Given the description of an element on the screen output the (x, y) to click on. 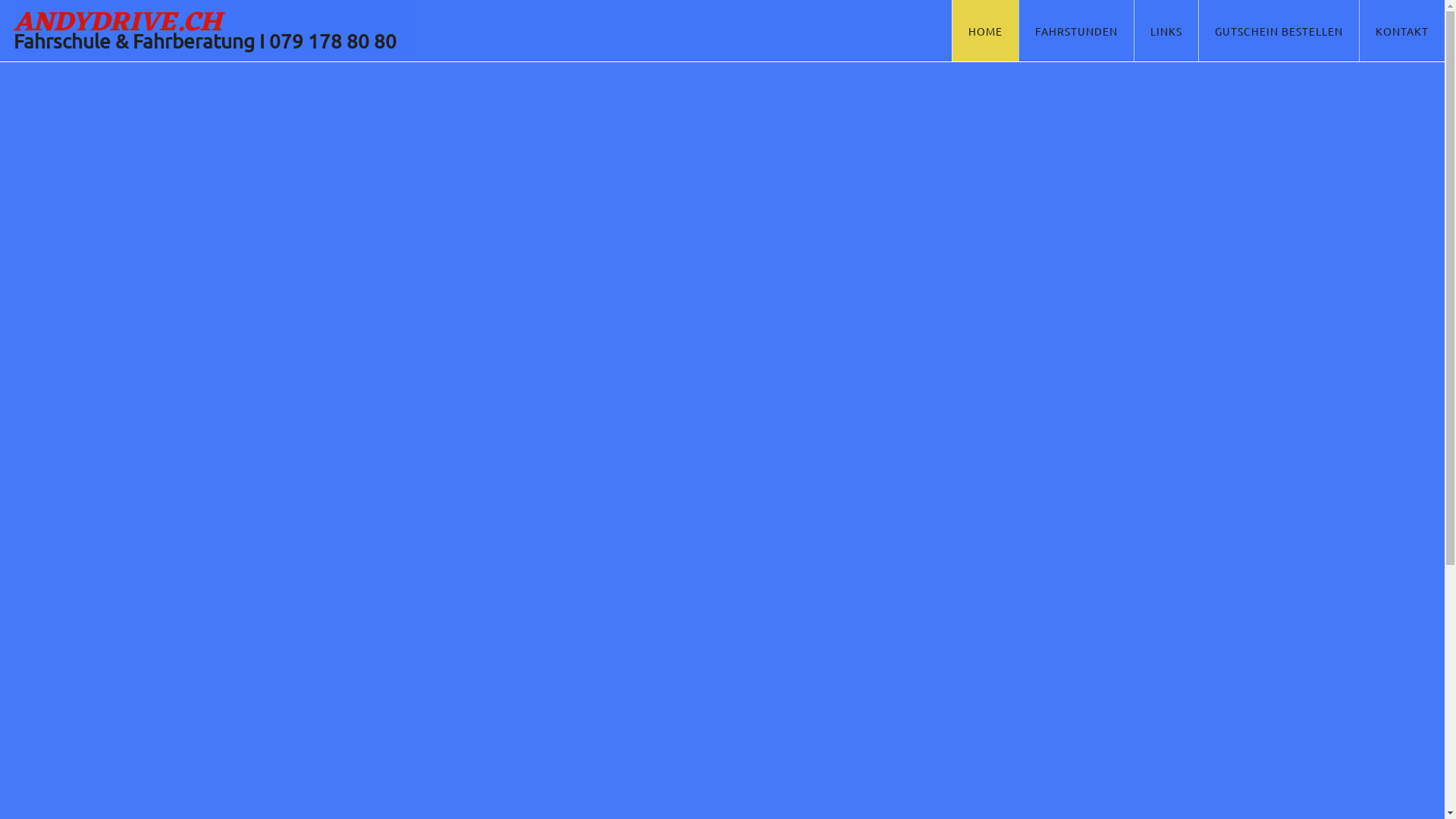
ANDYDRIVE.CH
Fahrschule & Fahrberatung I 079 178 80 80 Element type: text (215, 30)
KONTAKT Element type: text (1401, 30)
LINKS Element type: text (1165, 30)
GUTSCHEIN BESTELLEN Element type: text (1278, 30)
HOME Element type: text (984, 30)
FAHRSTUNDEN Element type: text (1075, 30)
